Given the description of an element on the screen output the (x, y) to click on. 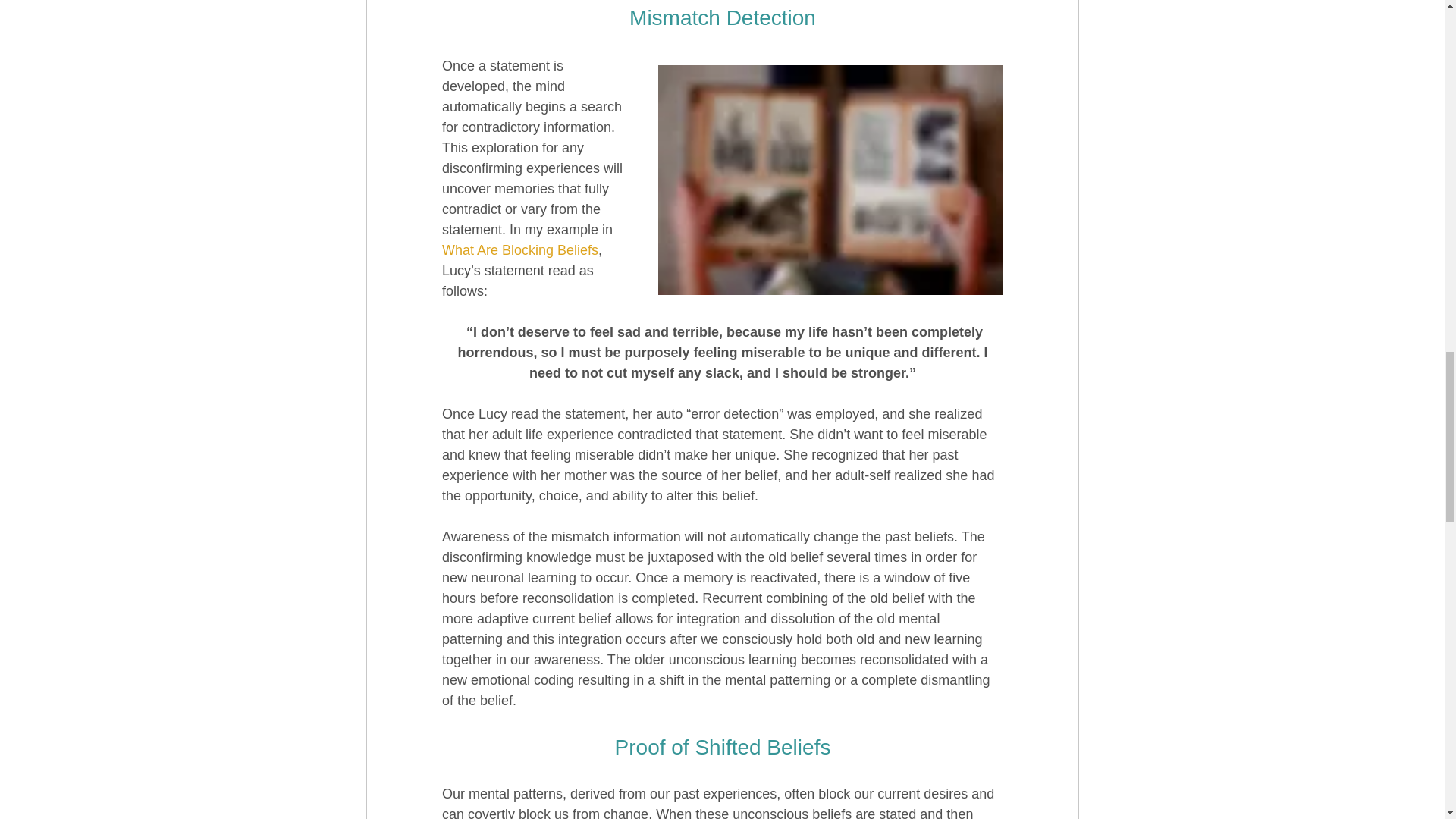
What Are Blocking Beliefs (518, 249)
